Given the description of an element on the screen output the (x, y) to click on. 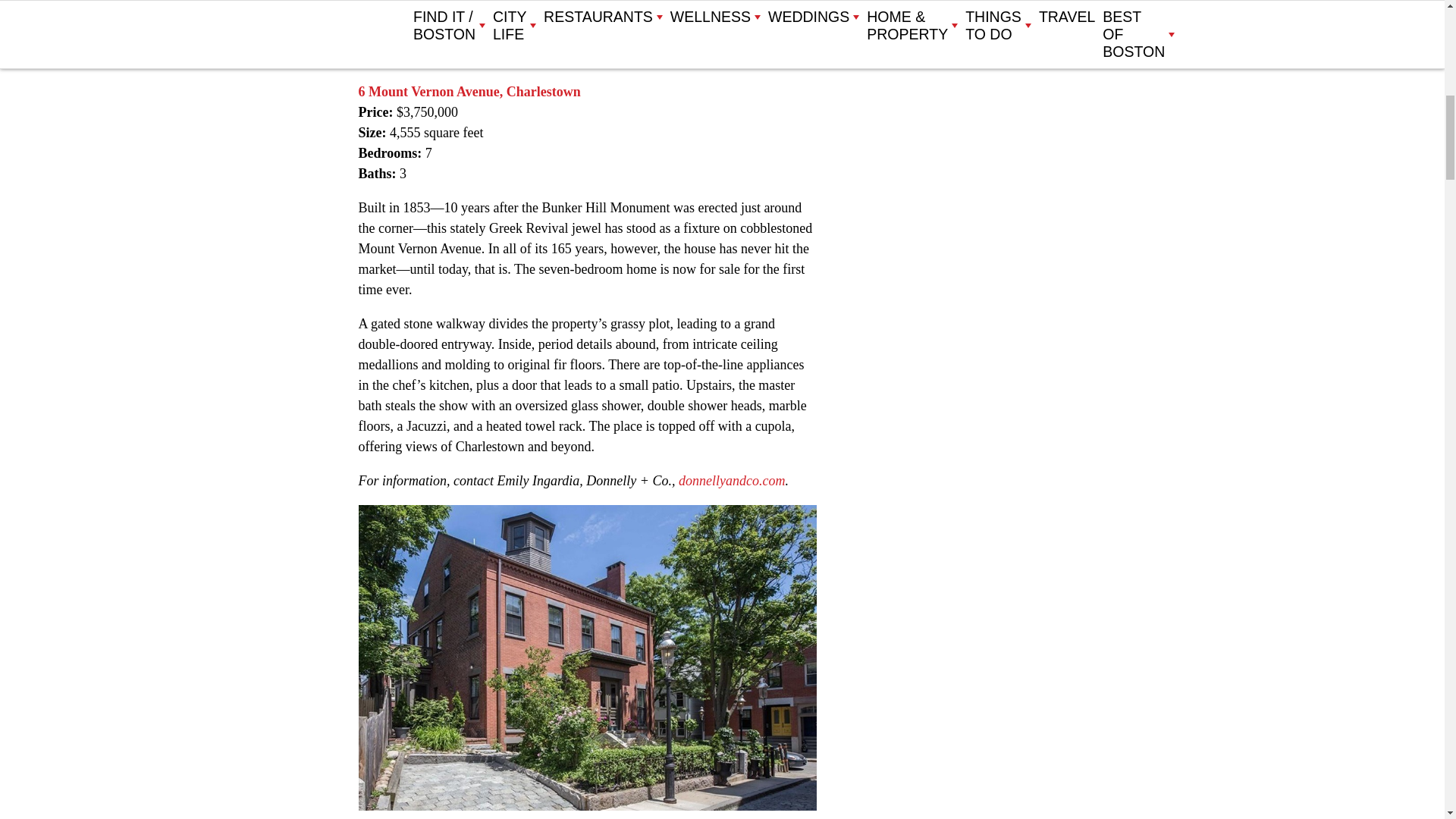
3rd party ad content (969, 106)
